Given the description of an element on the screen output the (x, y) to click on. 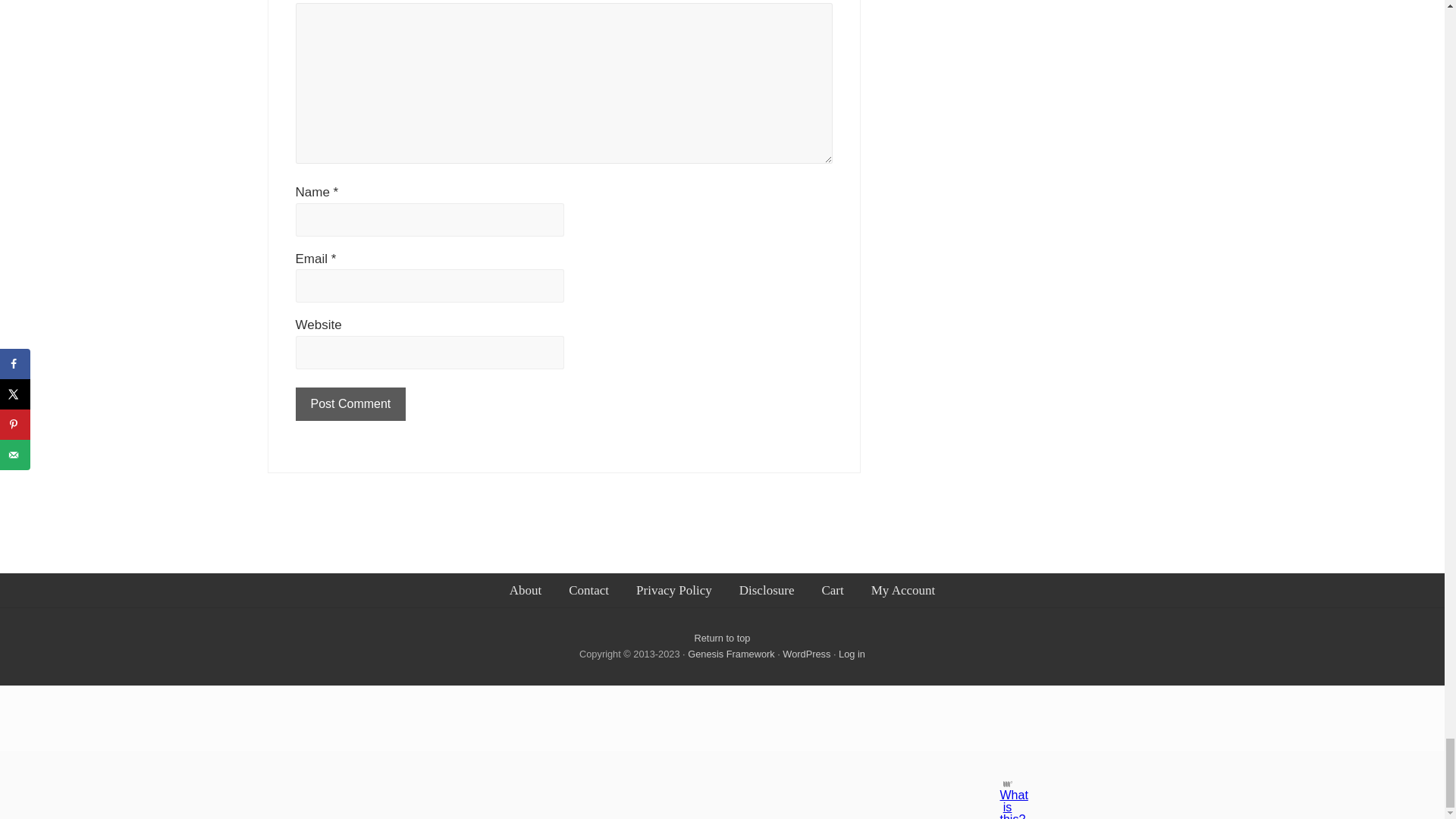
Post Comment (350, 403)
WordPress (806, 654)
Genesis Framework (732, 654)
